Given the description of an element on the screen output the (x, y) to click on. 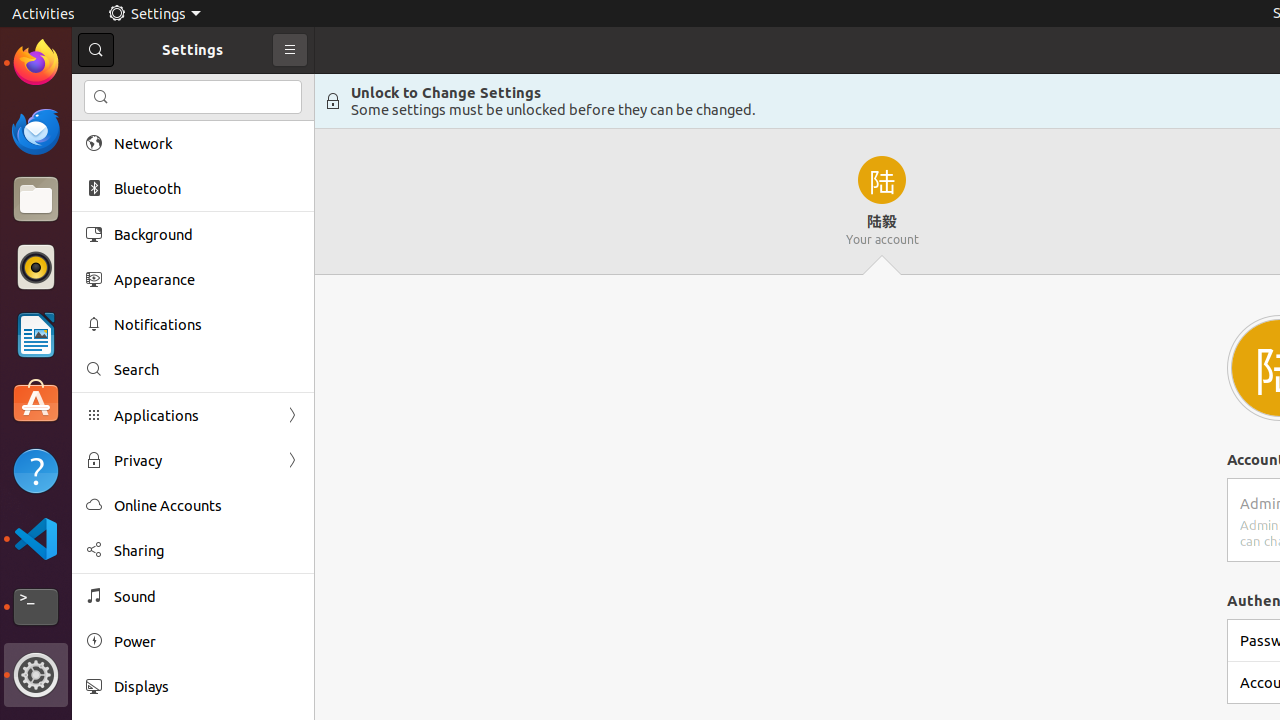
Activities Element type: label (43, 13)
Sharing Element type: label (207, 550)
Online Accounts Element type: label (207, 505)
Unlock to Change Settings Element type: label (446, 92)
luyi1 Element type: label (133, 89)
